Given the description of an element on the screen output the (x, y) to click on. 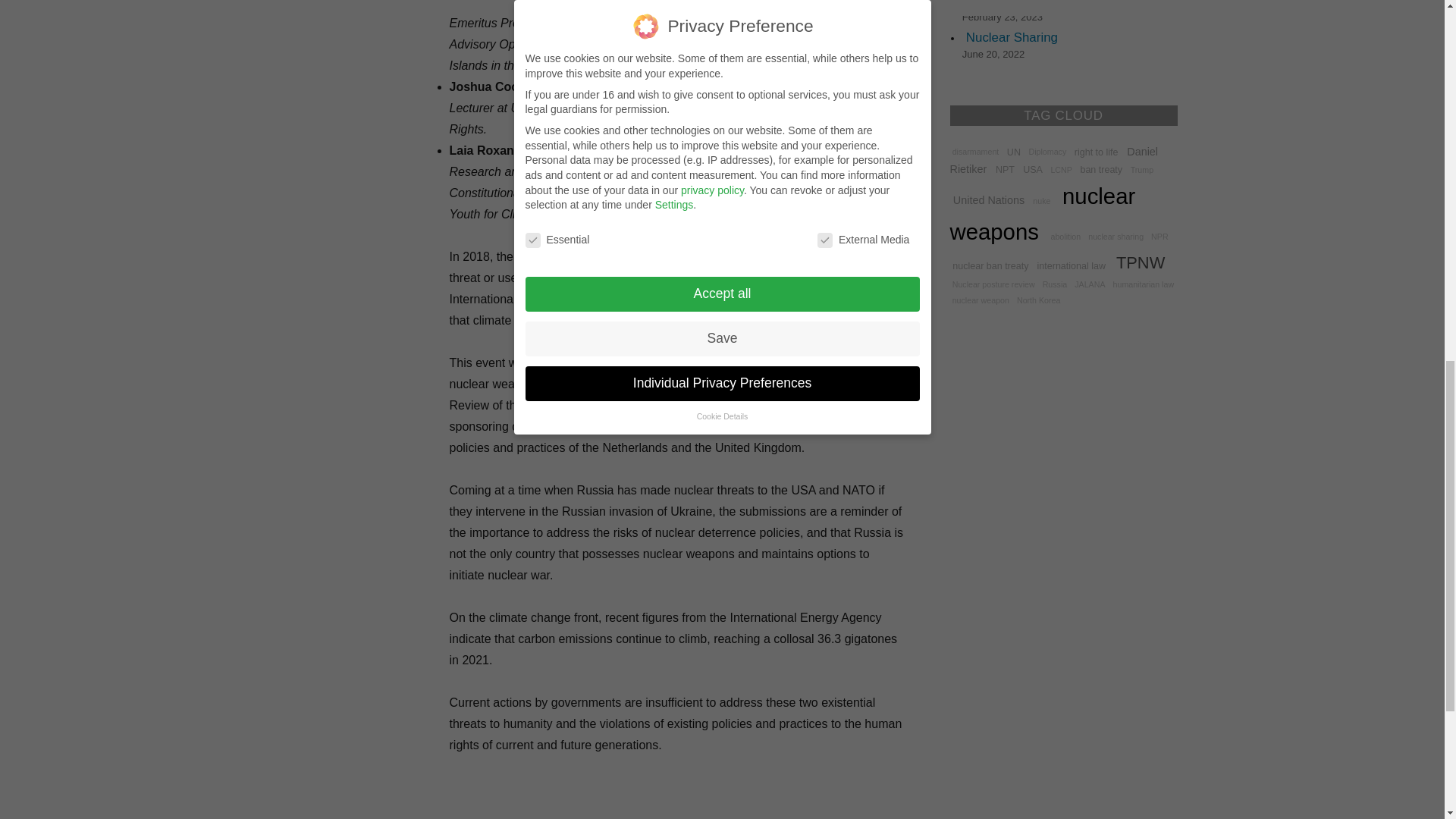
7 topics (1032, 169)
5 topics (1115, 235)
5 topics (1041, 200)
7 topics (1004, 169)
3 topics (1047, 151)
3 topics (975, 151)
6 topics (1013, 151)
6 topics (1096, 151)
6 topics (1101, 169)
4 topics (1061, 169)
3 topics (1141, 169)
9 topics (1053, 159)
5 topics (1065, 235)
26 topics (1042, 212)
9 topics (988, 199)
